Given the description of an element on the screen output the (x, y) to click on. 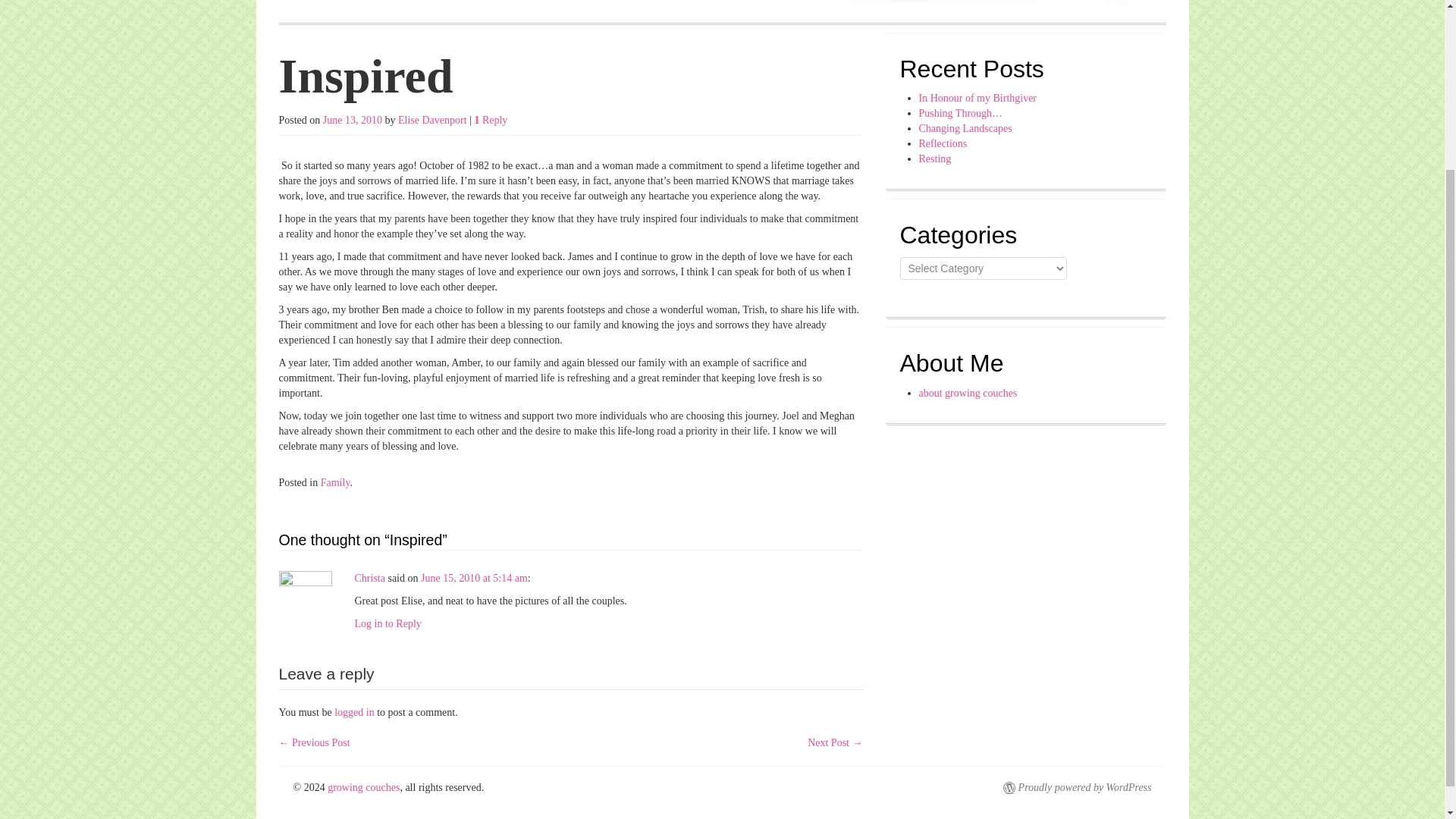
growing couches (362, 787)
about growing couches (967, 392)
View all posts by Elise Davenport (432, 120)
Christa (370, 577)
logged in (354, 712)
Changing Landscapes (964, 128)
Elise Davenport (432, 120)
Proudly powered by WordPress (1077, 787)
growing couches (988, 4)
Reflections (943, 143)
